Given the description of an element on the screen output the (x, y) to click on. 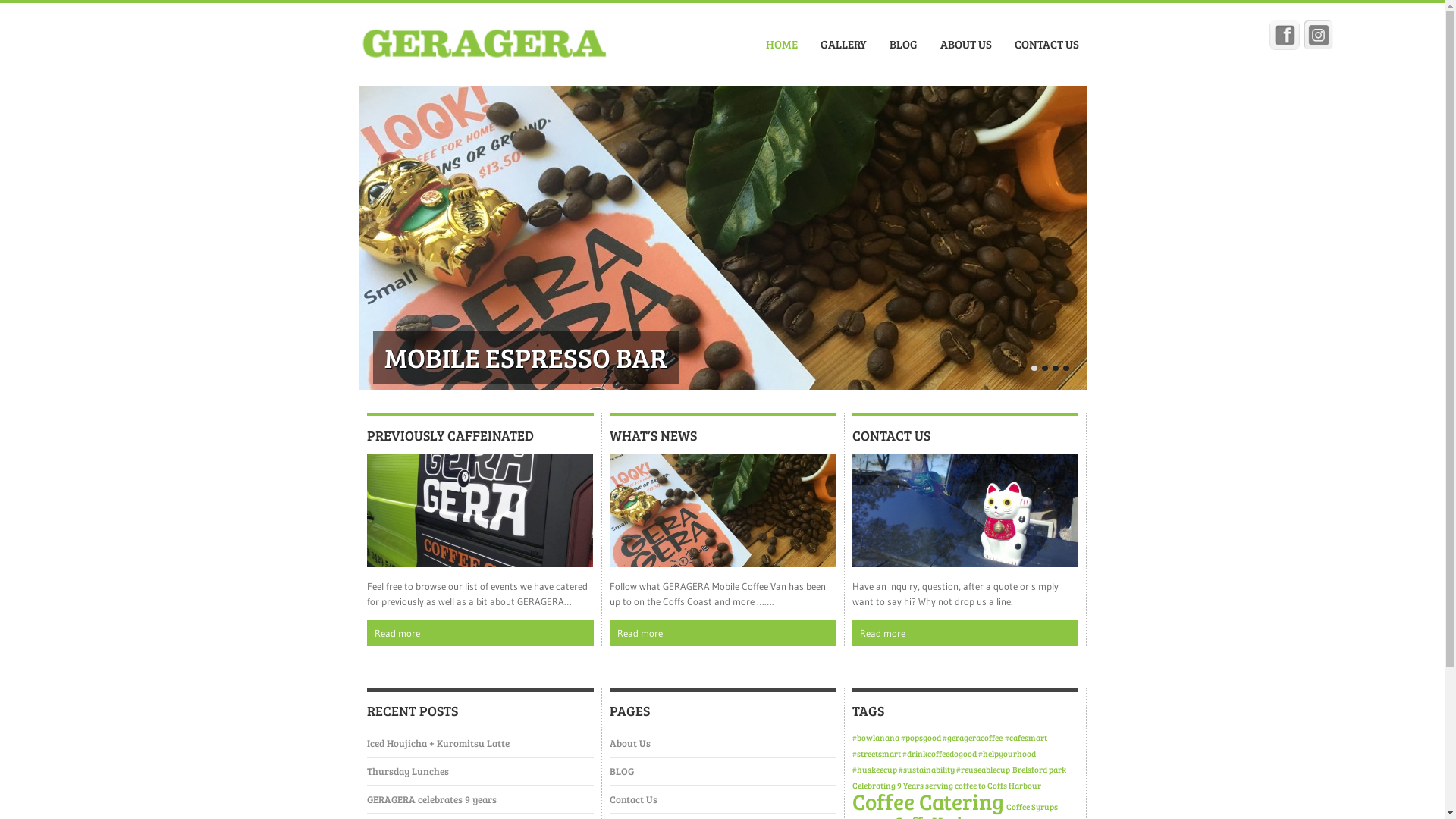
Facebook Element type: hover (1284, 34)
PREVIOUSLY CAFFEINATED Element type: text (450, 435)
Contact Us Element type: text (633, 799)
GERAGERA celebrates 9 years Element type: text (431, 799)
BLOG Element type: text (902, 43)
GALLERY Element type: text (843, 43)
Read more Element type: text (965, 633)
Iced Houjicha + Kuromitsu Latte Element type: text (438, 743)
GERAGERA Coffee Element type: hover (482, 49)
ABOUT US Element type: text (965, 43)
#huskeecup #sustainability #reuseablecup Element type: text (931, 770)
About Us Element type: text (629, 743)
BLOG Element type: text (621, 771)
Brelsford park Element type: text (1038, 770)
4 Element type: text (1066, 367)
3 Element type: text (1055, 367)
CONTACT US Element type: text (891, 435)
Celebrating 9 Years serving coffee to Coffs Harbour Element type: text (946, 786)
coffee image Element type: hover (721, 237)
Read more Element type: text (480, 633)
CONTACT US Element type: text (1046, 43)
#bowlanana #popsgood #gerageracoffee Element type: text (927, 738)
Permanent Link to Previously caffeinated Element type: hover (480, 510)
#cafesmart #streetsmart #drinkcoffeedogood #helpyourhood Element type: text (949, 746)
Thursday Lunches Element type: text (407, 771)
Instagram Element type: hover (1318, 34)
Coffee Syrups Element type: text (1031, 807)
HOME Element type: text (781, 43)
Read more Element type: text (722, 633)
1 Element type: text (1034, 367)
2 Element type: text (1044, 367)
Permanent Link to Contact Us Element type: hover (965, 510)
Coffee Catering Element type: text (928, 801)
